Given the description of an element on the screen output the (x, y) to click on. 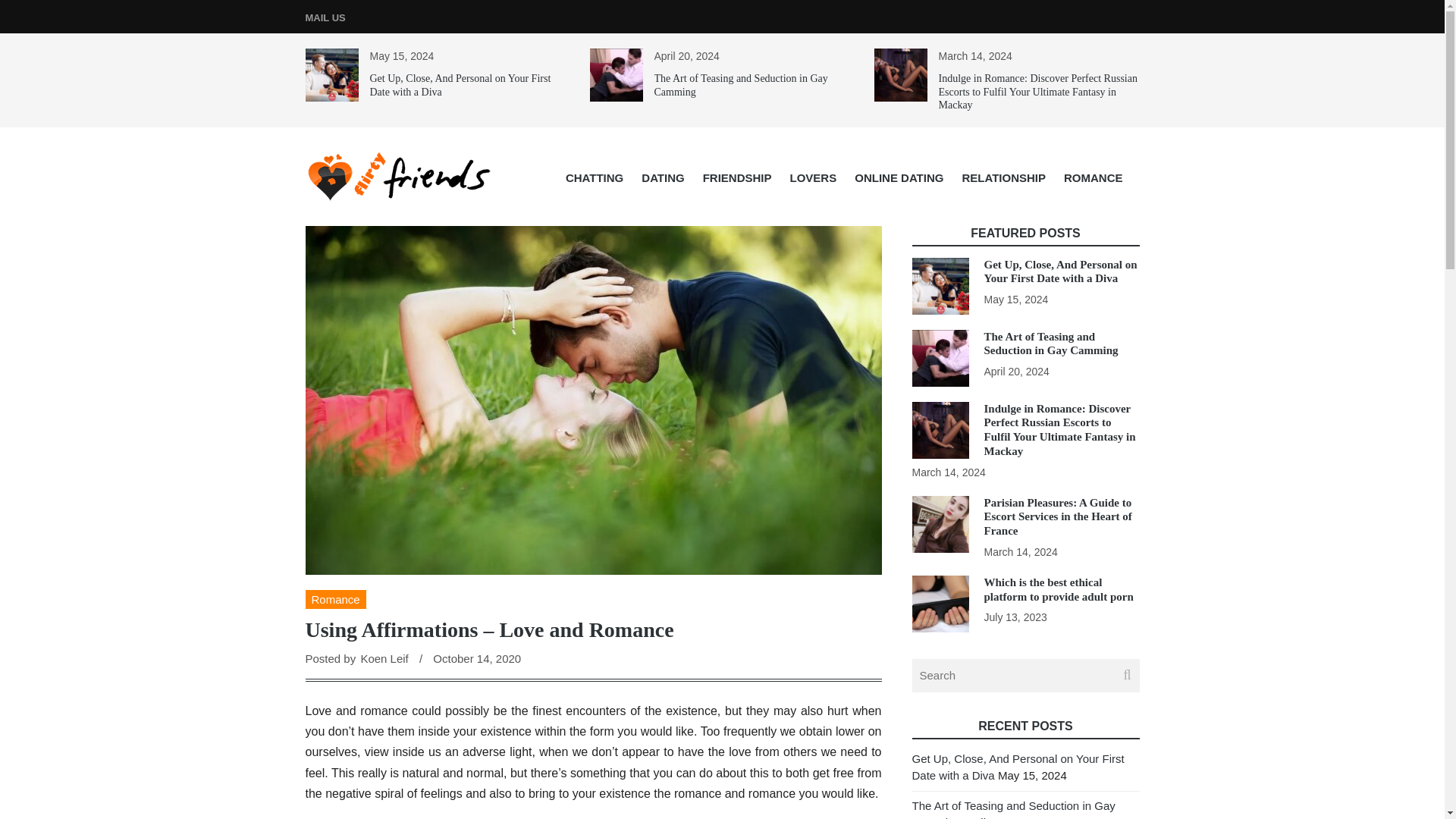
MAIL US (324, 17)
The Art of Teasing and Seduction in Gay Camming (740, 84)
Get Up, Close, And Personal on Your First Date with a Diva (460, 84)
RELATIONSHIP (1003, 177)
Koen Leif (383, 658)
CHATTING (593, 177)
Romance (334, 599)
DATING (662, 177)
FRIENDSHIP (737, 177)
ONLINE DATING (898, 177)
